Given the description of an element on the screen output the (x, y) to click on. 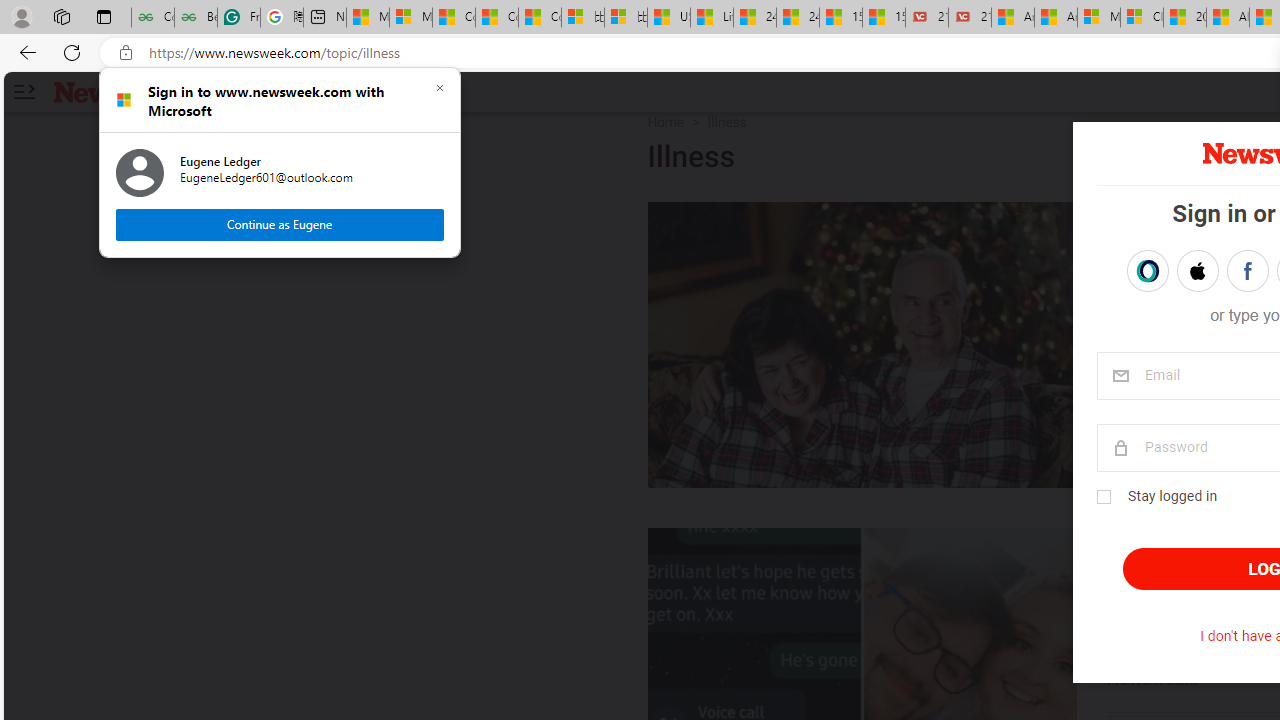
Continue as Eugene (280, 224)
Sign in with APPLE (1197, 270)
Lifestyle - MSN (712, 17)
USA TODAY - MSN (668, 17)
Class: checkbox (1103, 497)
20 Ways to Boost Your Protein Intake at Every Meal (1184, 17)
MY TURN (1156, 222)
Cloud Computing Services | Microsoft Azure (1142, 17)
21 Movies That Outdid the Books They Were Based On (969, 17)
Sign in with FACEBOOK (1247, 270)
